Given the description of an element on the screen output the (x, y) to click on. 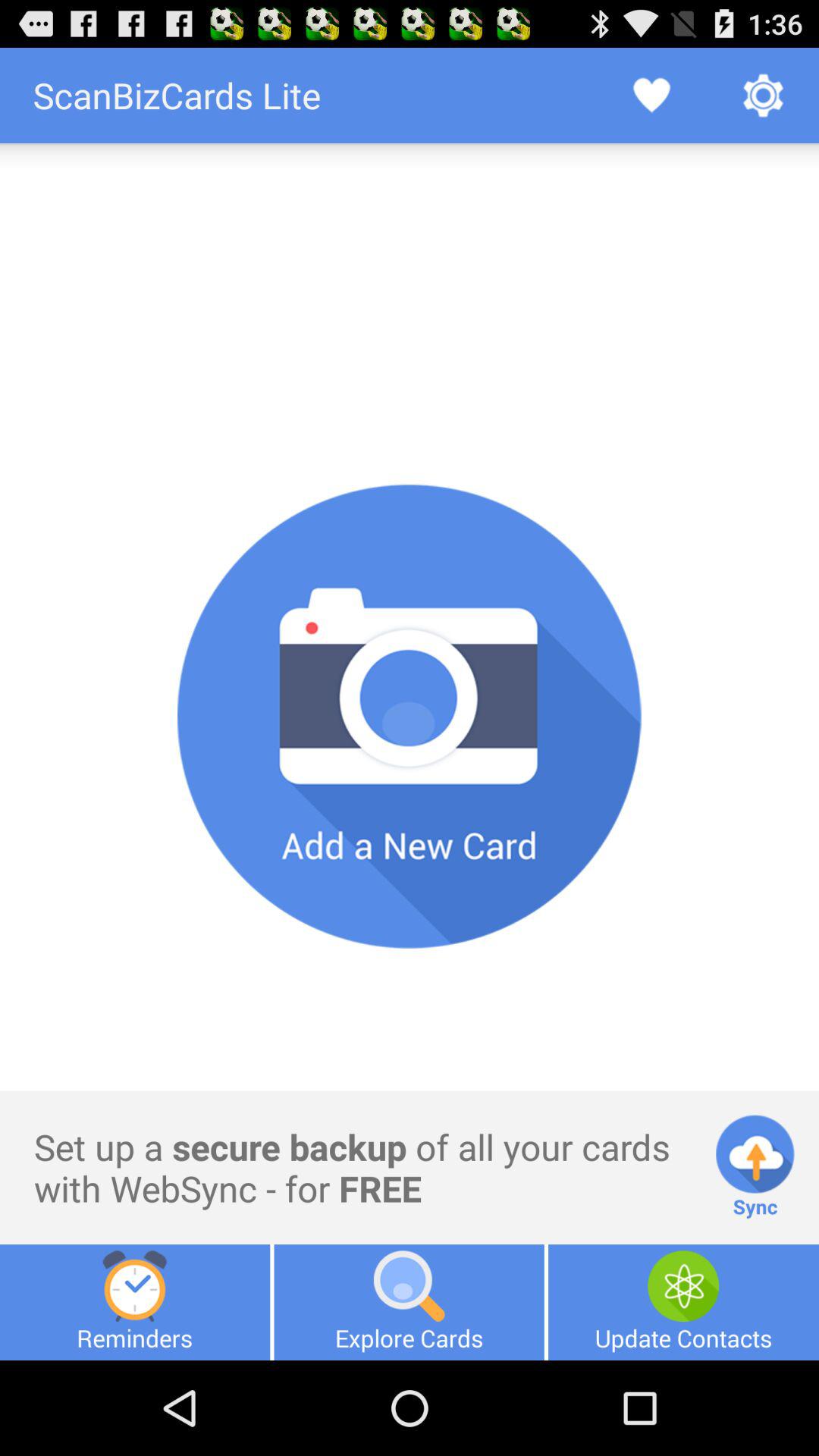
open icon above set up a item (409, 716)
